Given the description of an element on the screen output the (x, y) to click on. 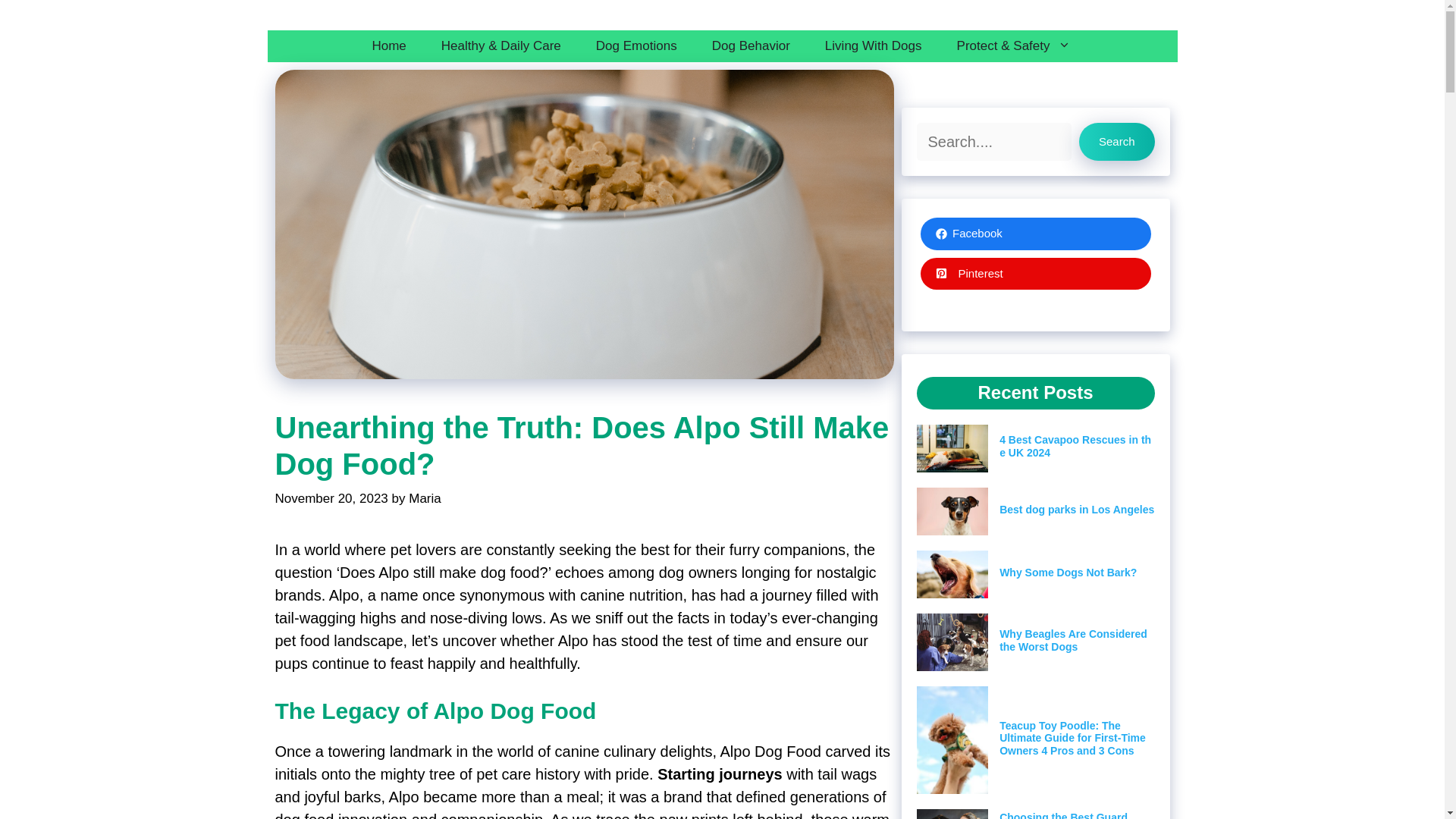
Pinterest (1035, 273)
Dog Emotions (636, 46)
Why Some Dogs Not Bark? (1067, 572)
Why Beagles Are Considered the Worst Dogs (1072, 640)
Home (388, 46)
Living With Dogs (873, 46)
View all posts by Maria (425, 498)
Best dog parks in Los Angeles (1076, 509)
Facebook (1035, 233)
